Given the description of an element on the screen output the (x, y) to click on. 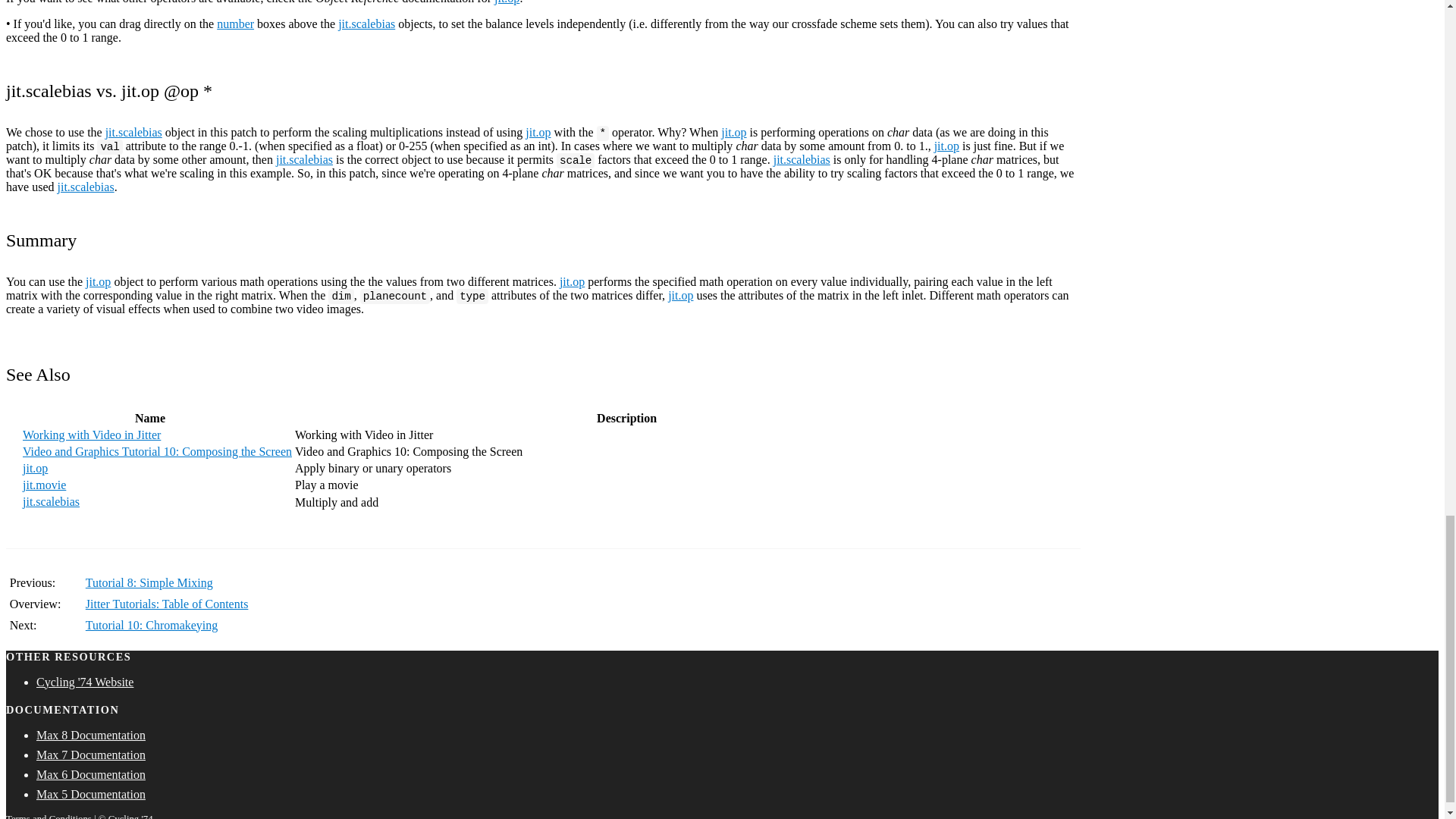
jit.op (732, 132)
jit.op (537, 132)
jit.scalebias (132, 132)
number (234, 23)
jit.scalebias (365, 23)
jit.op (507, 2)
